Given the description of an element on the screen output the (x, y) to click on. 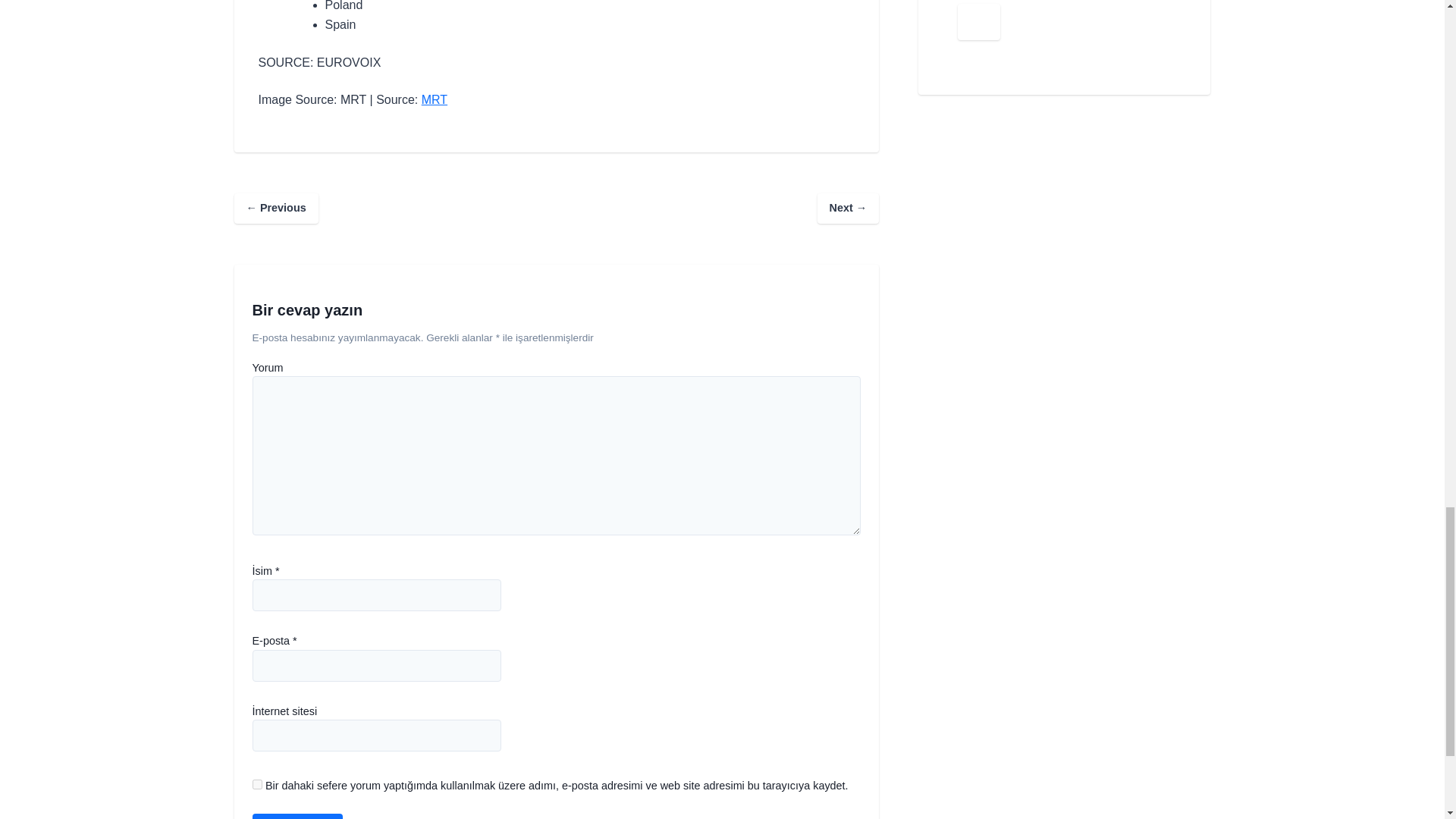
yes (256, 784)
MRT (434, 99)
